Given the description of an element on the screen output the (x, y) to click on. 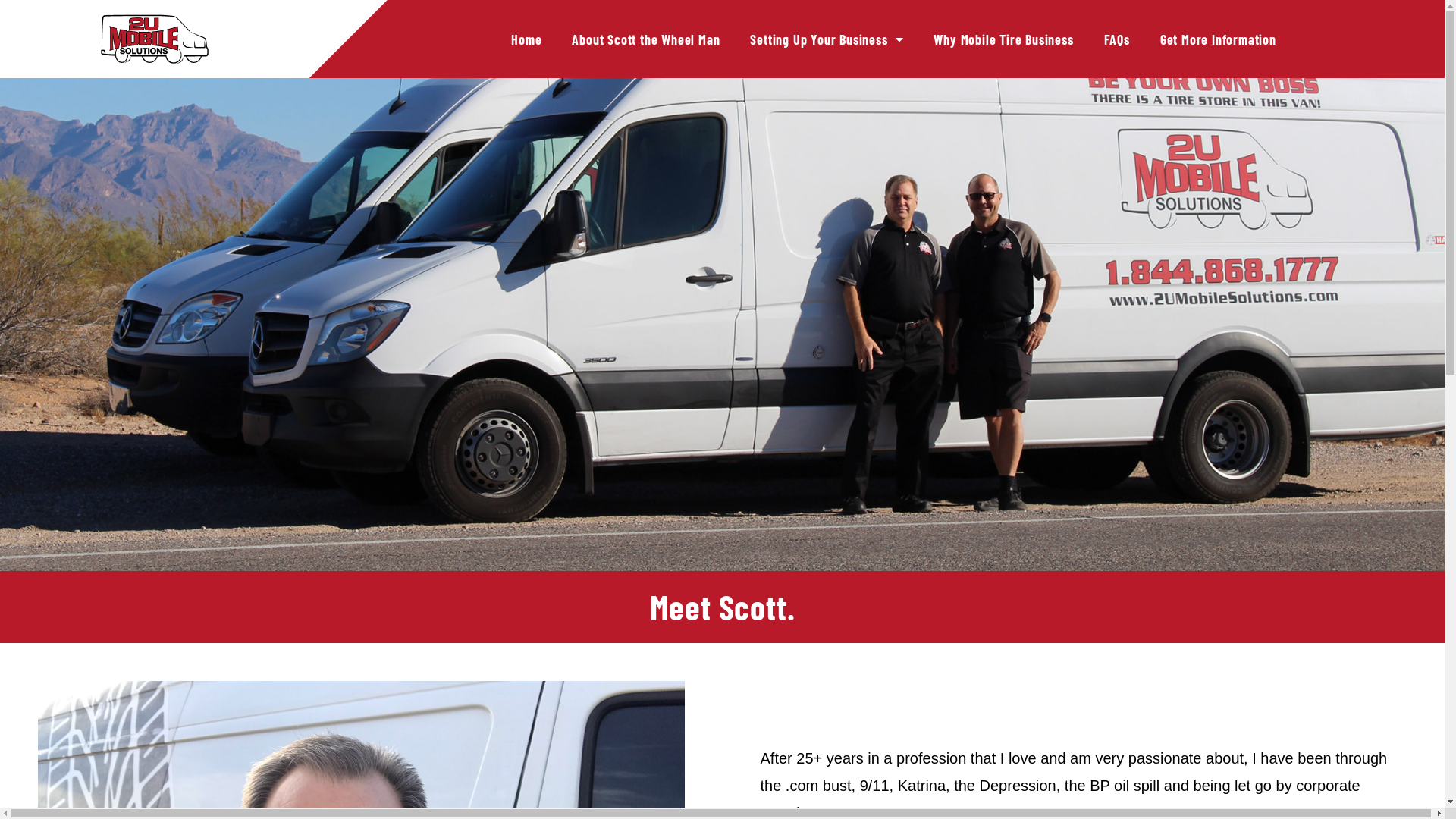
Get More Information Element type: text (1218, 38)
2U-Mobile Element type: hover (154, 38)
Home Element type: text (525, 38)
FAQs Element type: text (1116, 38)
Setting Up Your Business Element type: text (826, 38)
Why Mobile Tire Business Element type: text (1003, 38)
About Scott the Wheel Man Element type: text (645, 38)
